Given the description of an element on the screen output the (x, y) to click on. 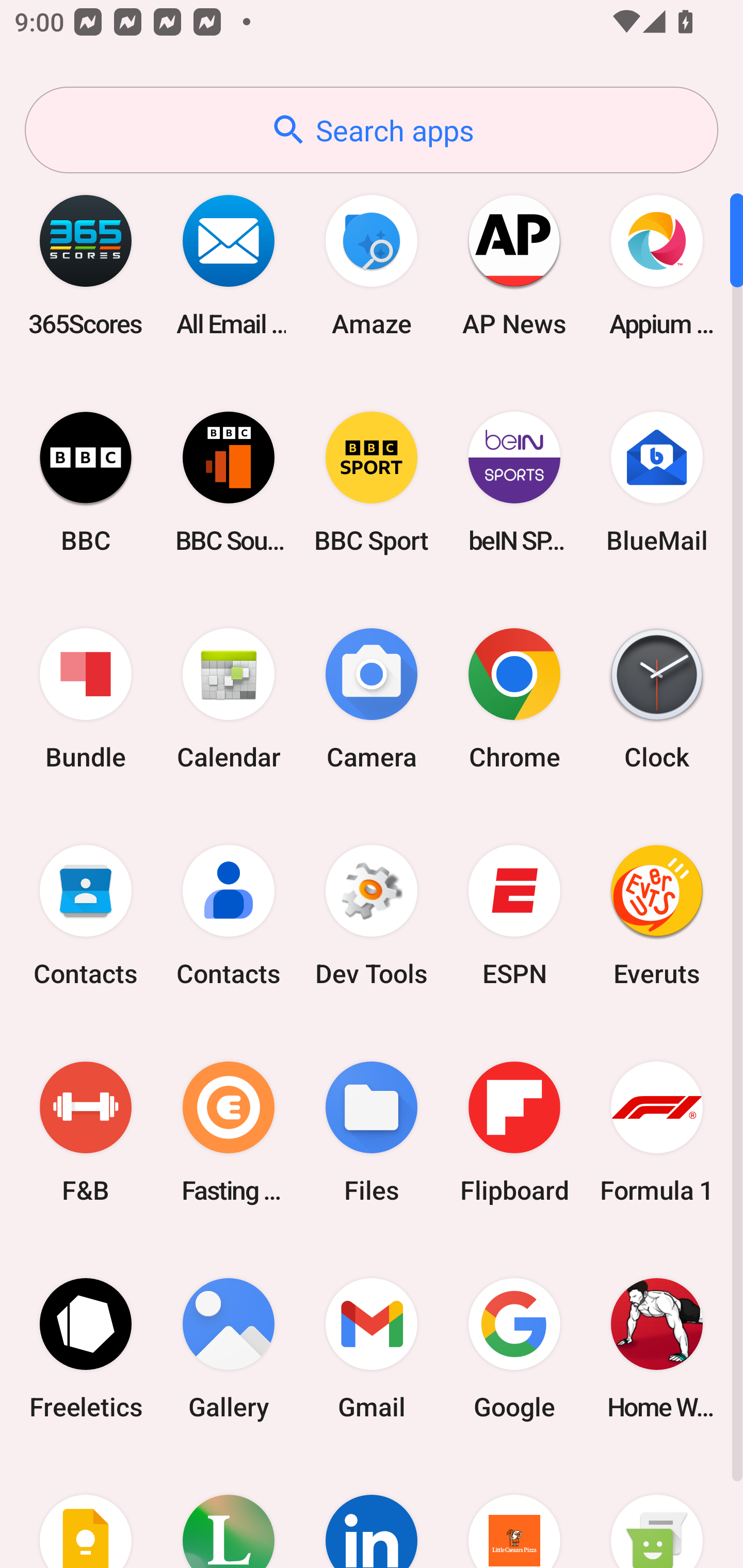
  Search apps (371, 130)
365Scores (85, 264)
All Email Connect (228, 264)
Amaze (371, 264)
AP News (514, 264)
Appium Settings (656, 264)
BBC (85, 482)
BBC Sounds (228, 482)
BBC Sport (371, 482)
beIN SPORTS (514, 482)
BlueMail (656, 482)
Bundle (85, 699)
Calendar (228, 699)
Camera (371, 699)
Chrome (514, 699)
Clock (656, 699)
Contacts (85, 915)
Contacts (228, 915)
Dev Tools (371, 915)
ESPN (514, 915)
Everuts (656, 915)
F&B (85, 1131)
Fasting Coach (228, 1131)
Files (371, 1131)
Flipboard (514, 1131)
Formula 1 (656, 1131)
Freeletics (85, 1348)
Gallery (228, 1348)
Gmail (371, 1348)
Google (514, 1348)
Home Workout (656, 1348)
Keep Notes (85, 1512)
Lifesum (228, 1512)
LinkedIn (371, 1512)
Little Caesars Pizza (514, 1512)
Messaging (656, 1512)
